Given the description of an element on the screen output the (x, y) to click on. 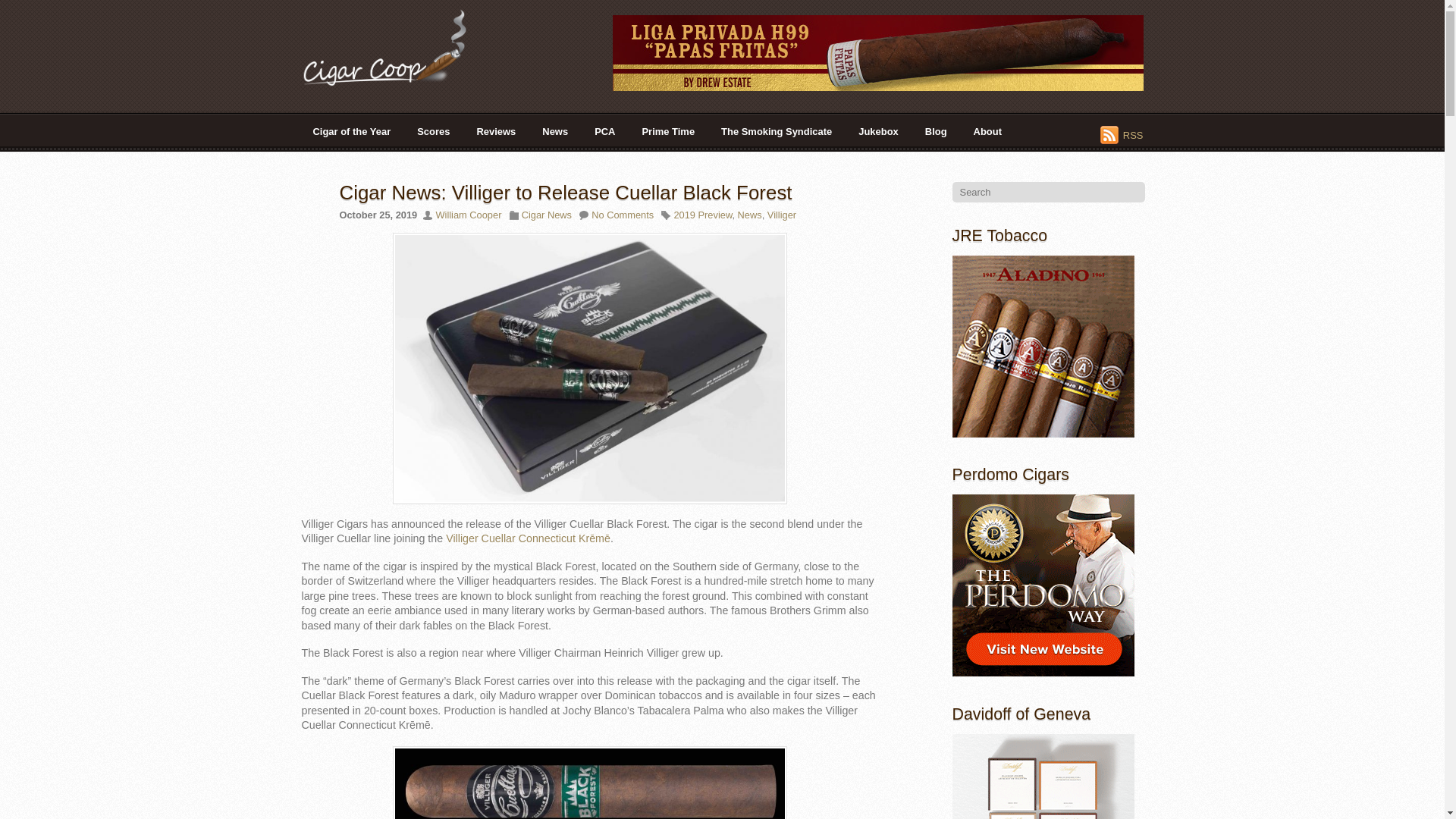
Reviews (495, 131)
News (555, 131)
Scores (433, 131)
Cigar News: Villiger to Release Cuellar Black Forest (565, 192)
Cigar Coop (396, 46)
Cigar of the Year (352, 131)
Cigar Coop (396, 79)
